Given the description of an element on the screen output the (x, y) to click on. 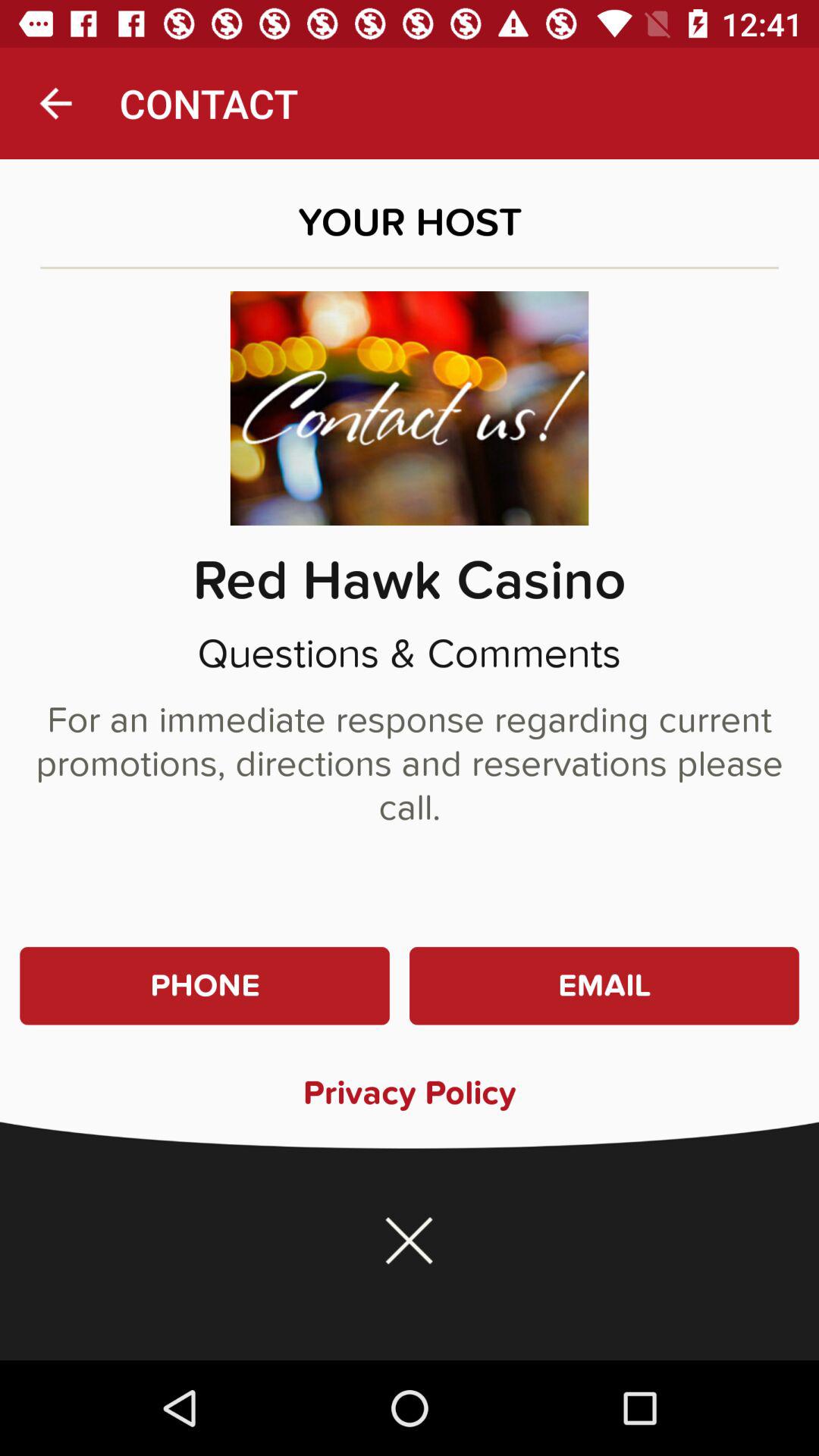
turn off item below the for an immediate item (204, 985)
